Given the description of an element on the screen output the (x, y) to click on. 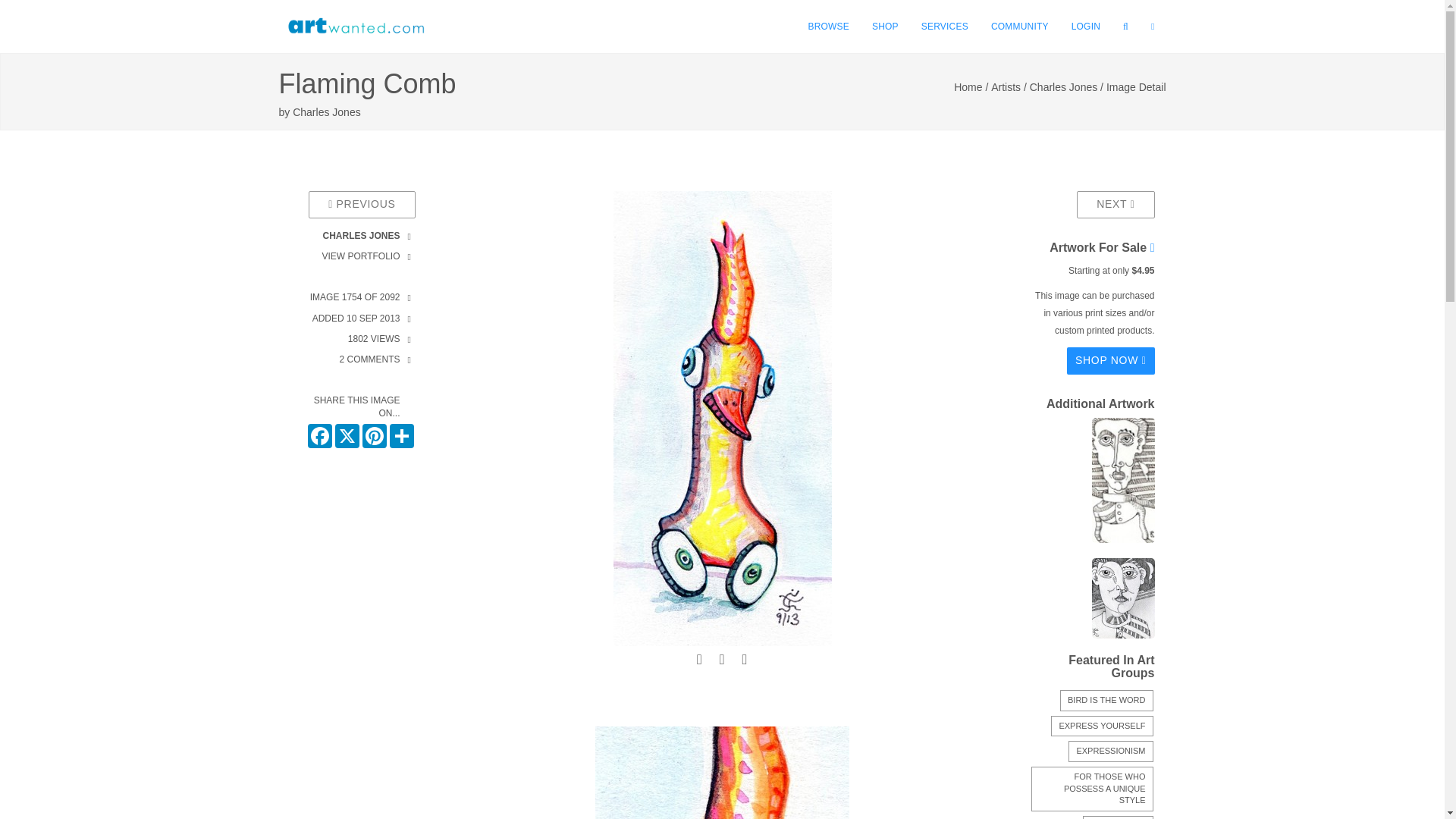
COMMUNITY (1019, 26)
SHOP (885, 26)
BROWSE (828, 26)
LOGIN (1085, 26)
SERVICES (944, 26)
Charles Jones (326, 111)
